Given the description of an element on the screen output the (x, y) to click on. 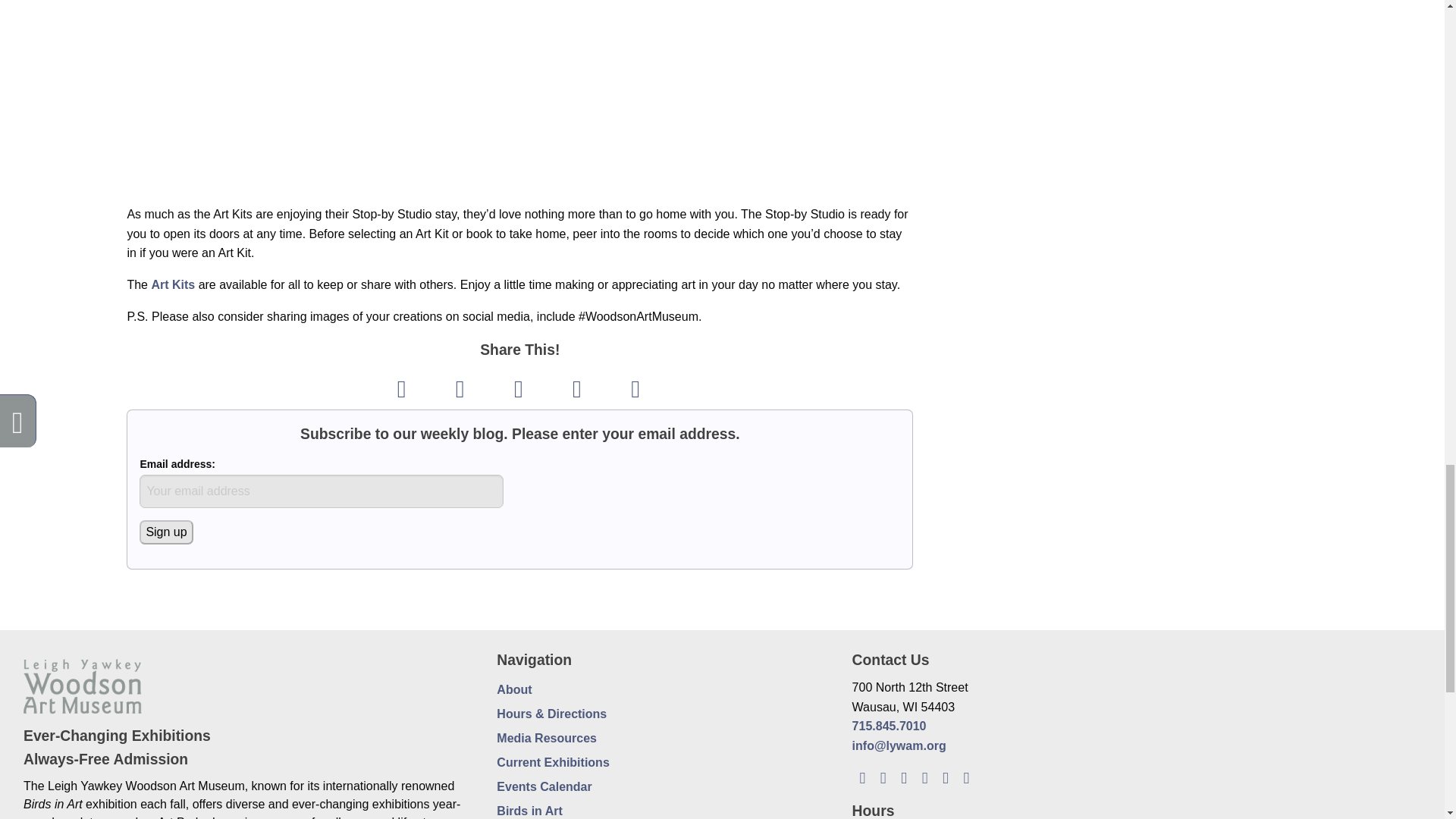
Instagram (924, 776)
Woodson Art Museum Blog (861, 776)
Contact Us (966, 776)
Follow Us on Twitter (903, 776)
Like Us on Facebook (882, 776)
Watch Our Videos on YouTube (944, 776)
Sign up (165, 532)
